Given the description of an element on the screen output the (x, y) to click on. 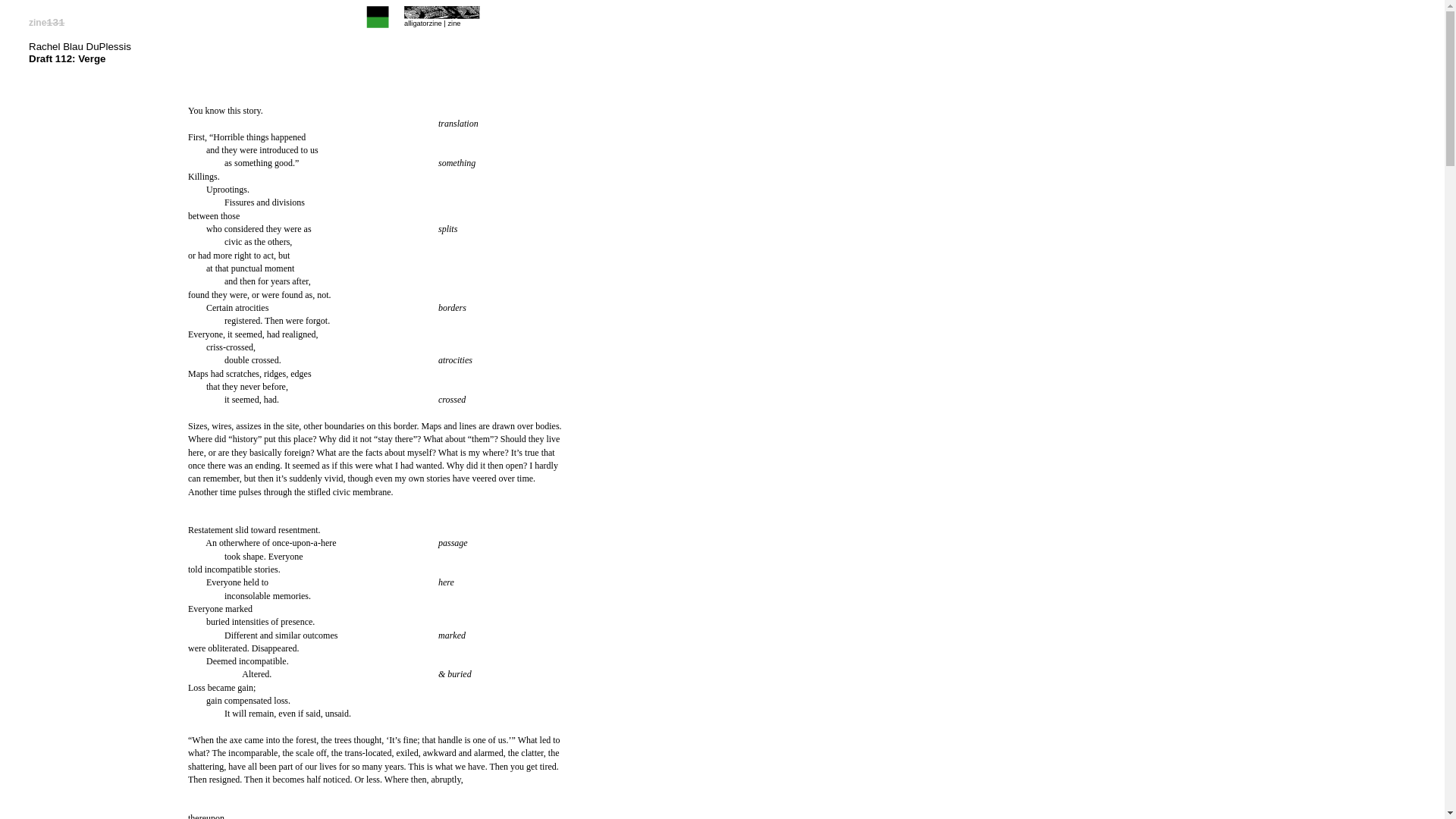
zine Element type: text (453, 23)
